Given the description of an element on the screen output the (x, y) to click on. 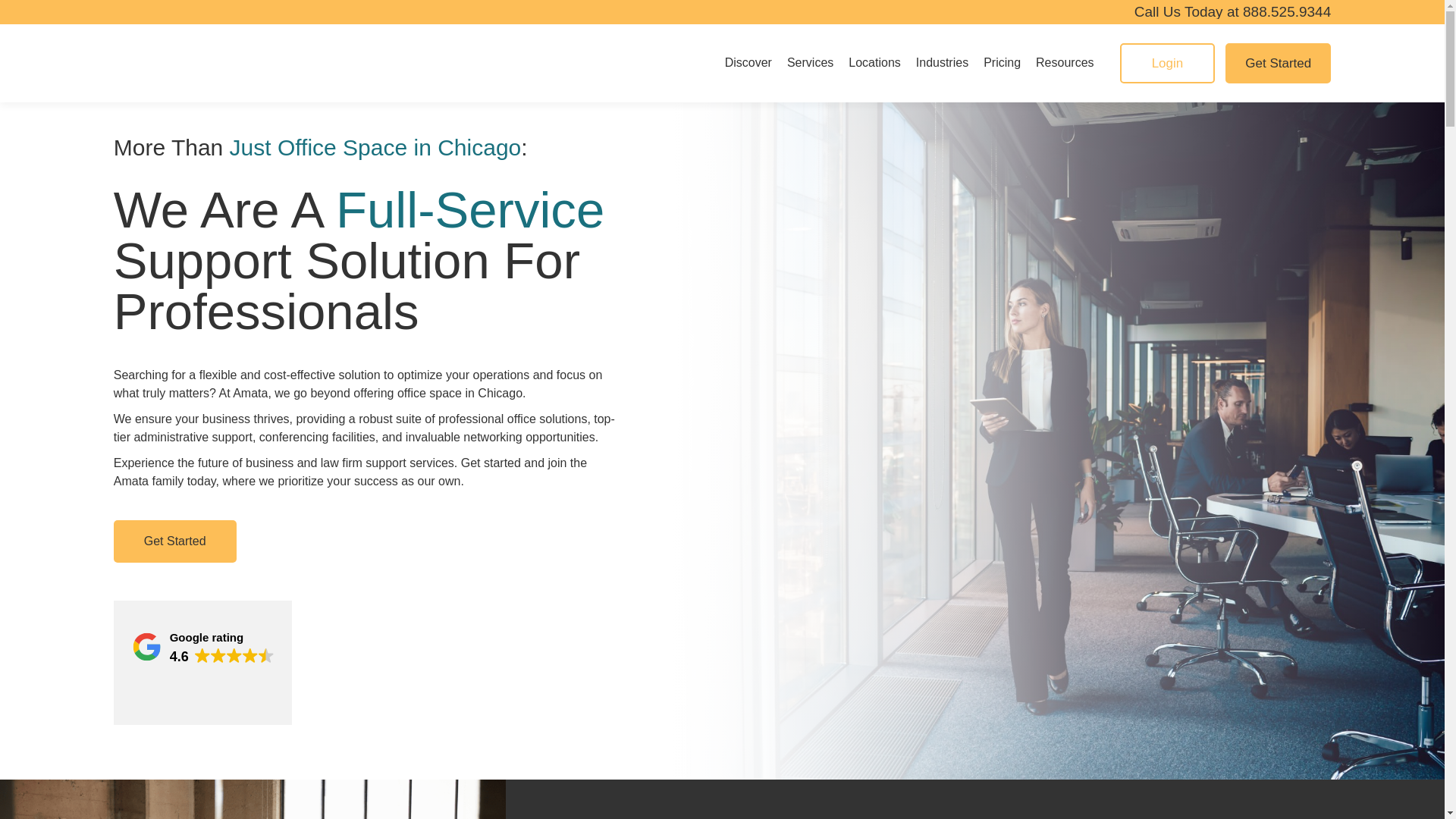
Services (809, 62)
Resources (1064, 62)
Pricing (1002, 62)
Locations (874, 62)
Discover (748, 62)
Industries (941, 62)
Call Us Today at 888.525.9344 (1233, 11)
